Given the description of an element on the screen output the (x, y) to click on. 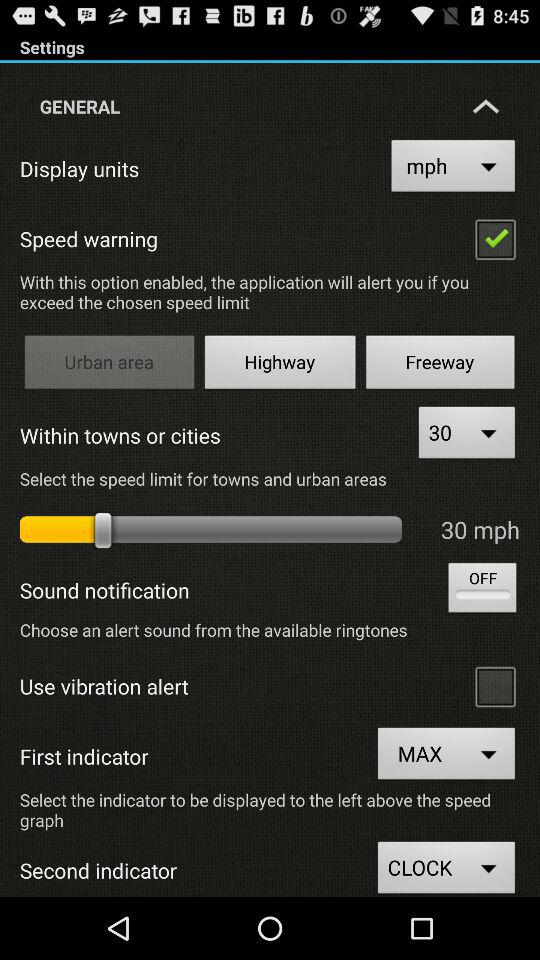
correct button (495, 238)
